Given the description of an element on the screen output the (x, y) to click on. 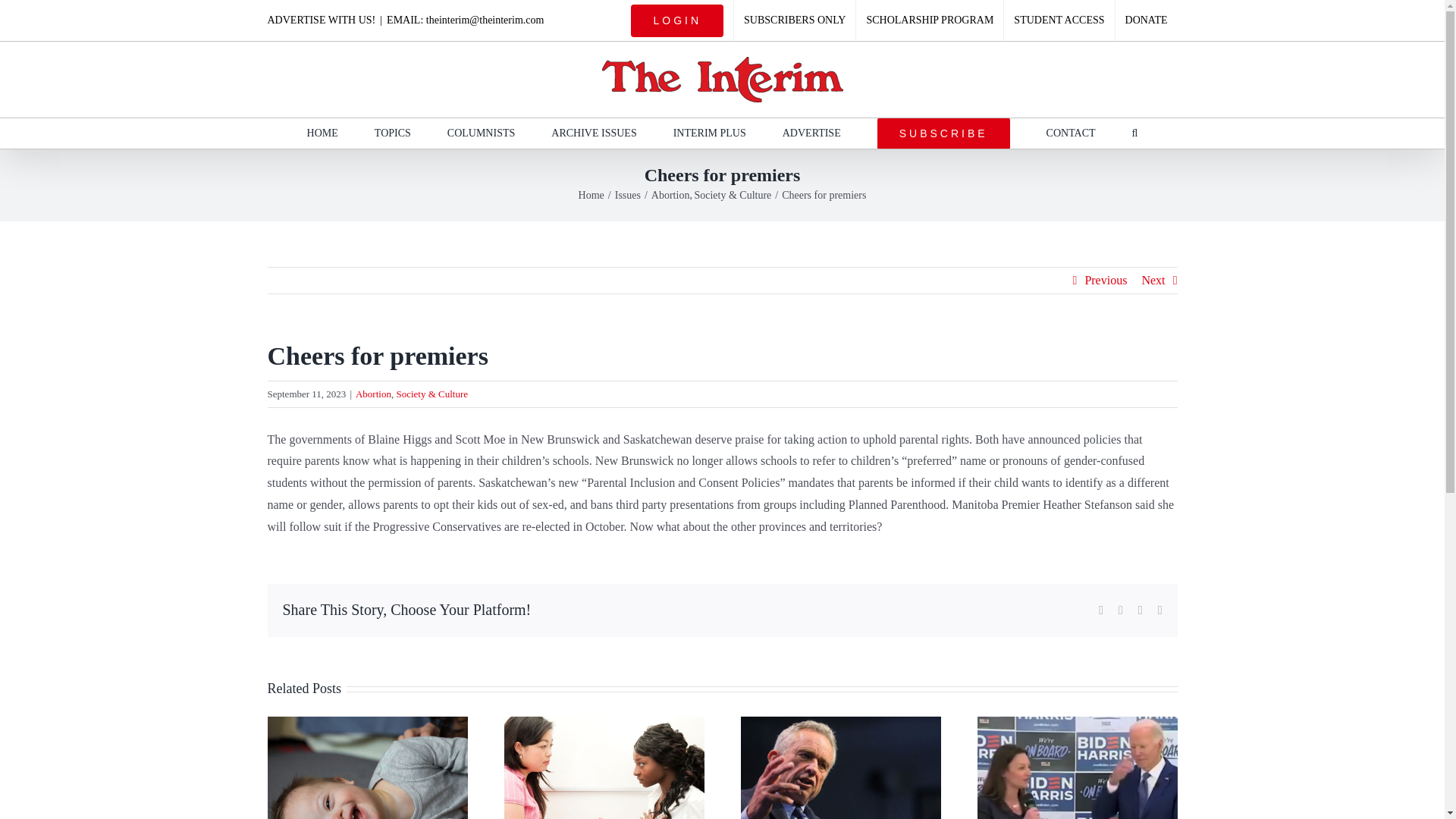
SCHOLARSHIP PROGRAM (929, 20)
SUBSCRIBE (943, 132)
CONTACT (1071, 132)
TOPICS (392, 132)
DONATE (1146, 20)
HOME (322, 132)
ARCHIVE ISSUES (593, 132)
LOGIN (677, 20)
Previous (1105, 280)
STUDENT ACCESS (1058, 20)
COLUMNISTS (480, 132)
Next (1152, 280)
ADVERTISE (812, 132)
Issues (627, 194)
INTERIM PLUS (708, 132)
